Given the description of an element on the screen output the (x, y) to click on. 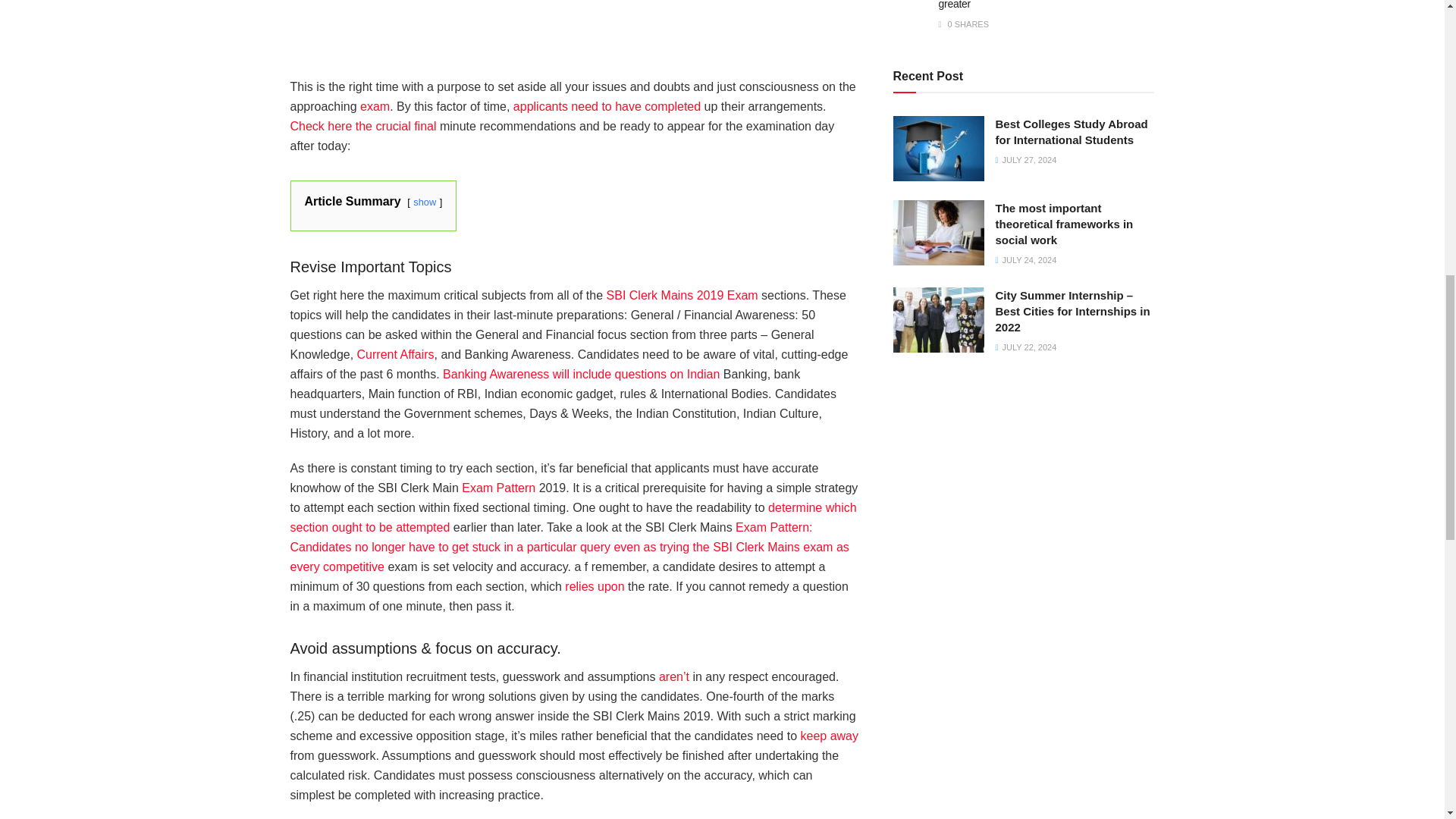
Best Colleges Study Abroad for International Students 4 (938, 148)
The most important theoretical frameworks in social work 5 (938, 232)
